Given the description of an element on the screen output the (x, y) to click on. 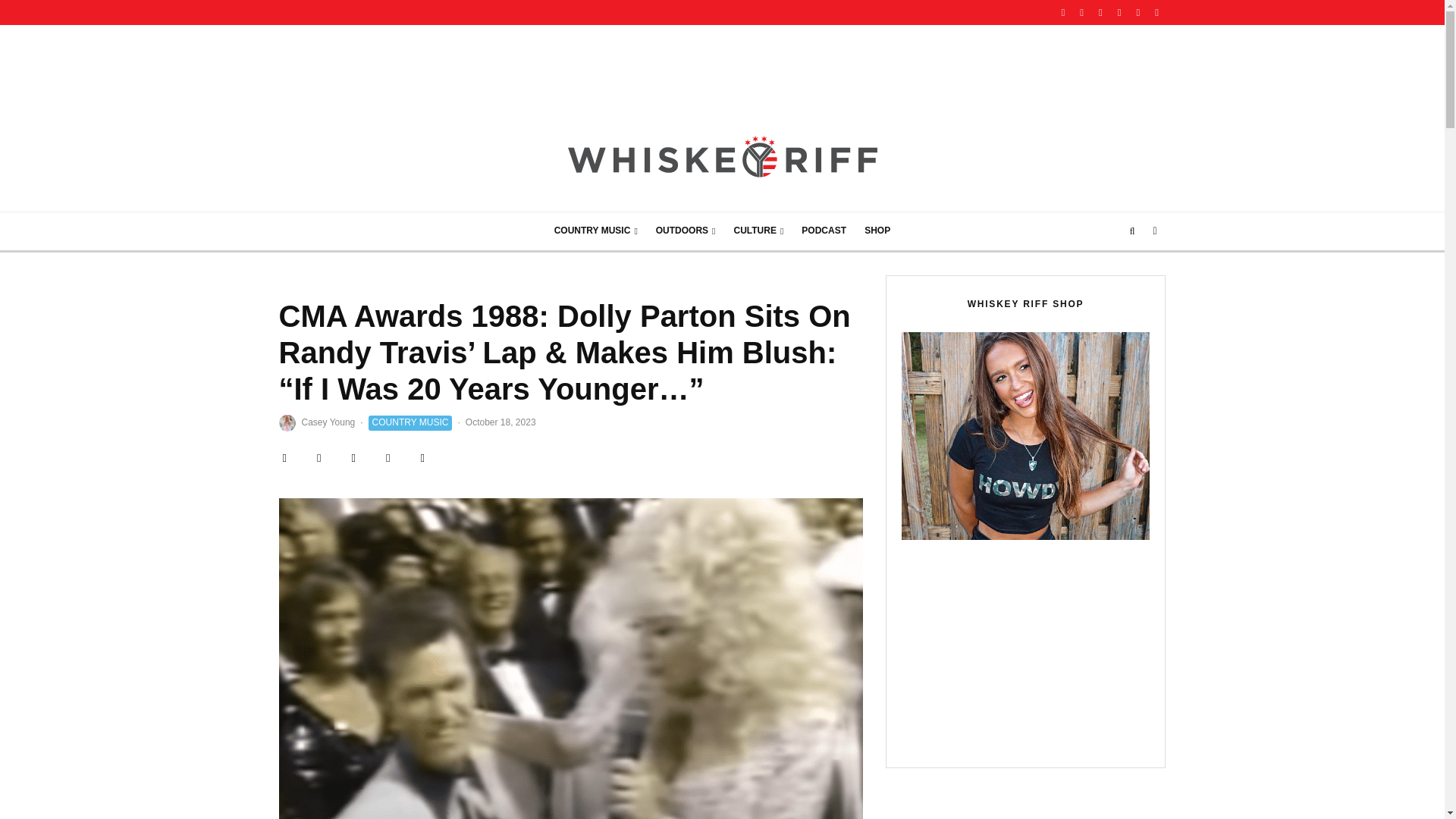
COUNTRY MUSIC (595, 231)
OUTDOORS (685, 231)
CULTURE (759, 231)
